Given the description of an element on the screen output the (x, y) to click on. 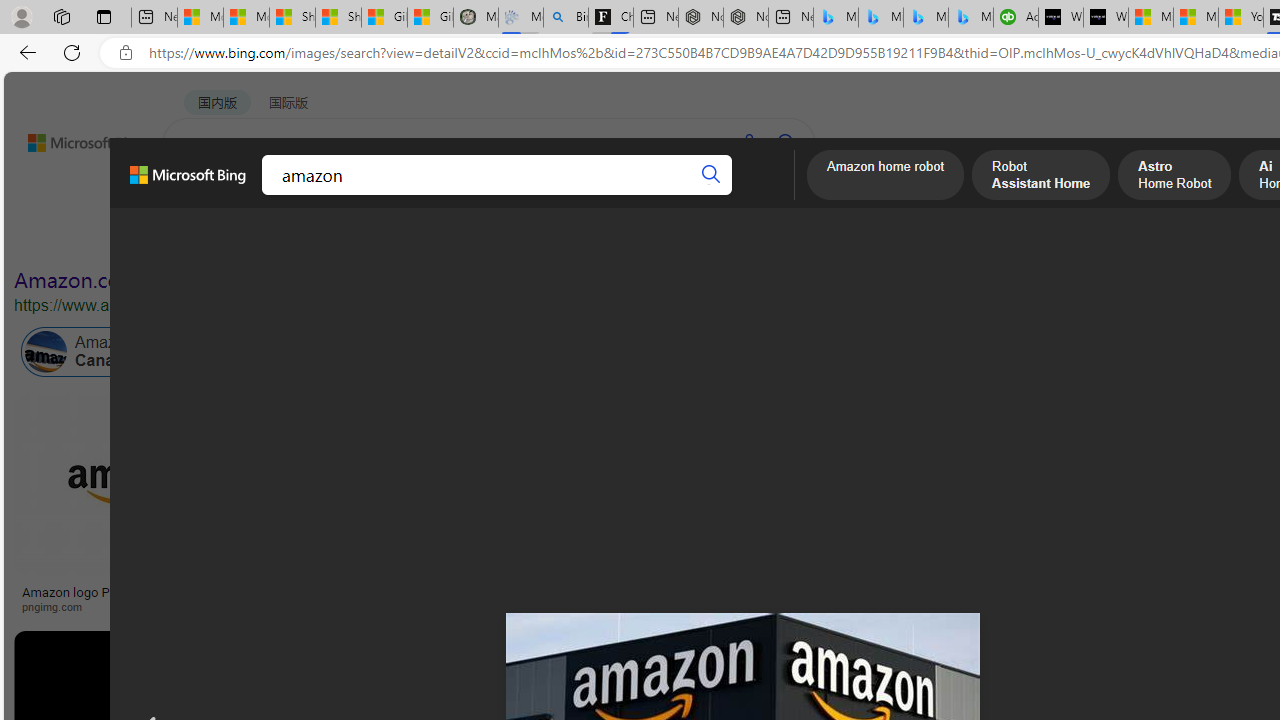
pngimg.com (133, 606)
Image result for amazon (982, 485)
Gilma and Hector both pose tropical trouble for Hawaii (430, 17)
Search button (712, 174)
Astro Home Robot (1174, 177)
Manatee Mortality Statistics | FWC (475, 17)
Kindle Paperwhite Case (1183, 524)
Amazon Canada Online (114, 351)
ACADEMIC (548, 195)
Amazon Prime Online (303, 351)
Microsoft Bing Travel - Shangri-La Hotel Bangkok (970, 17)
Microsoft Bing, Back to Bing search (188, 183)
MORE (779, 195)
Date (591, 237)
Search using voice (748, 142)
